Given the description of an element on the screen output the (x, y) to click on. 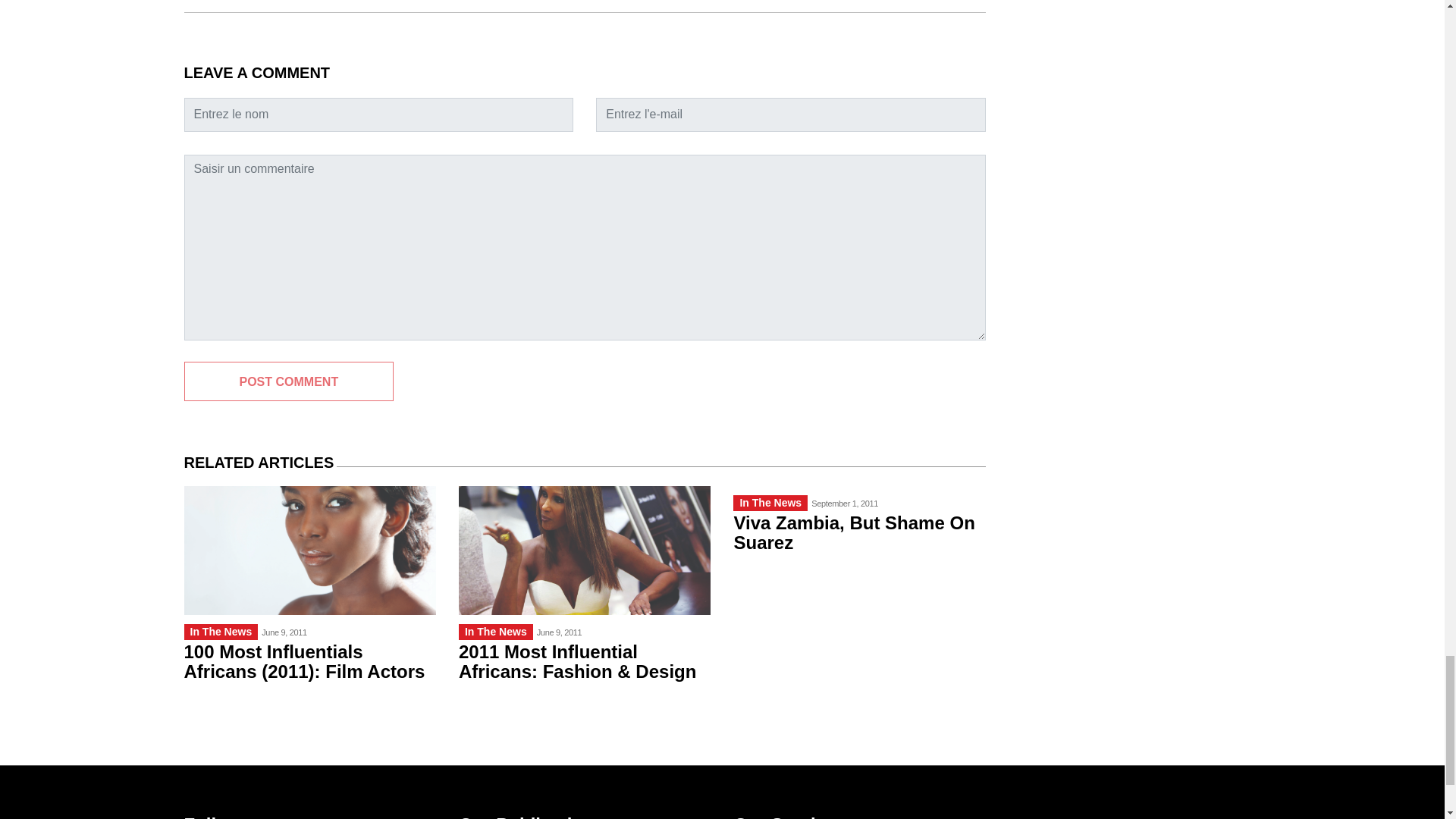
Post Comment (288, 381)
